Given the description of an element on the screen output the (x, y) to click on. 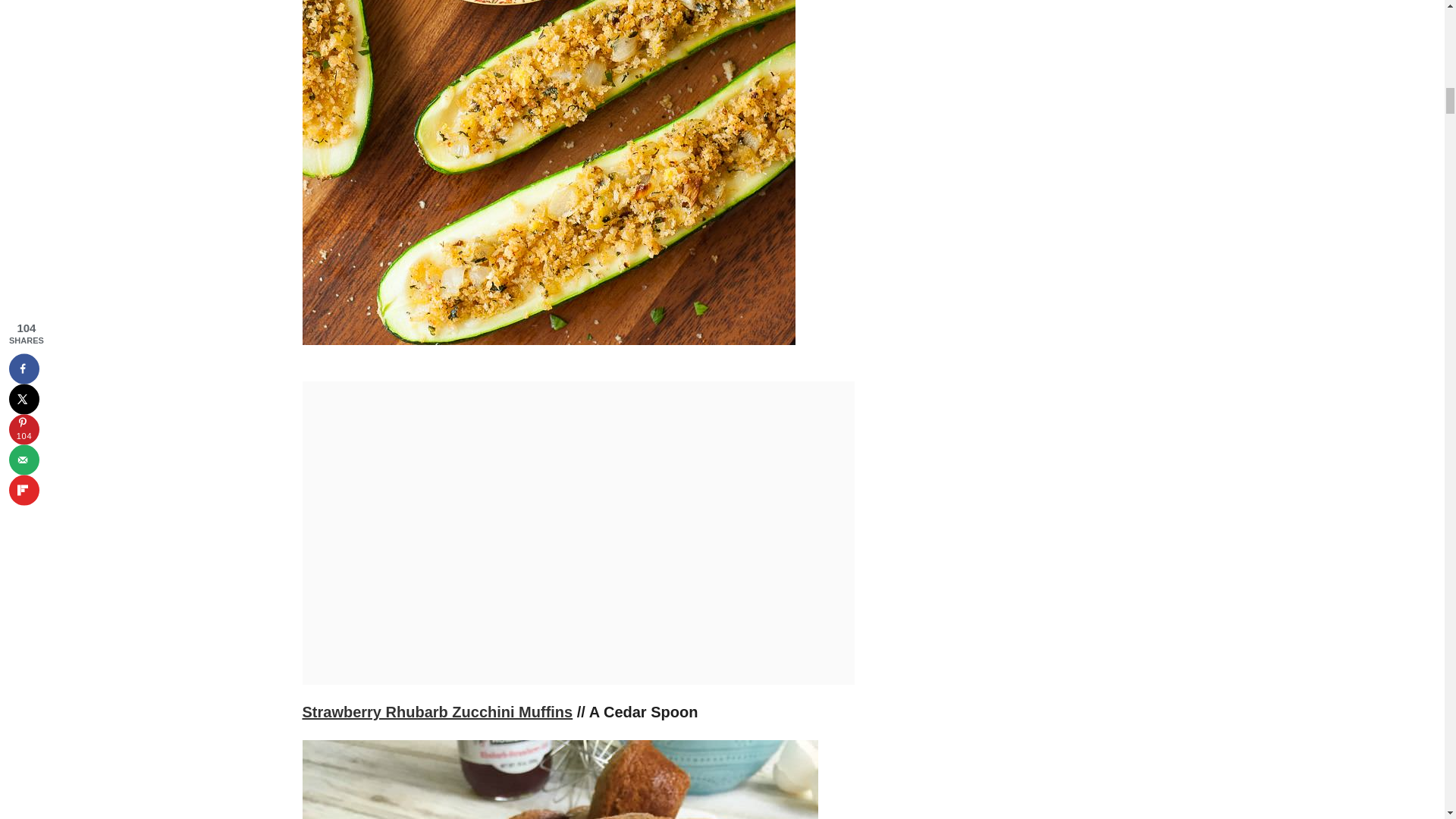
Strawberry Rhubarb Zucchini Muffins (436, 711)
